Given the description of an element on the screen output the (x, y) to click on. 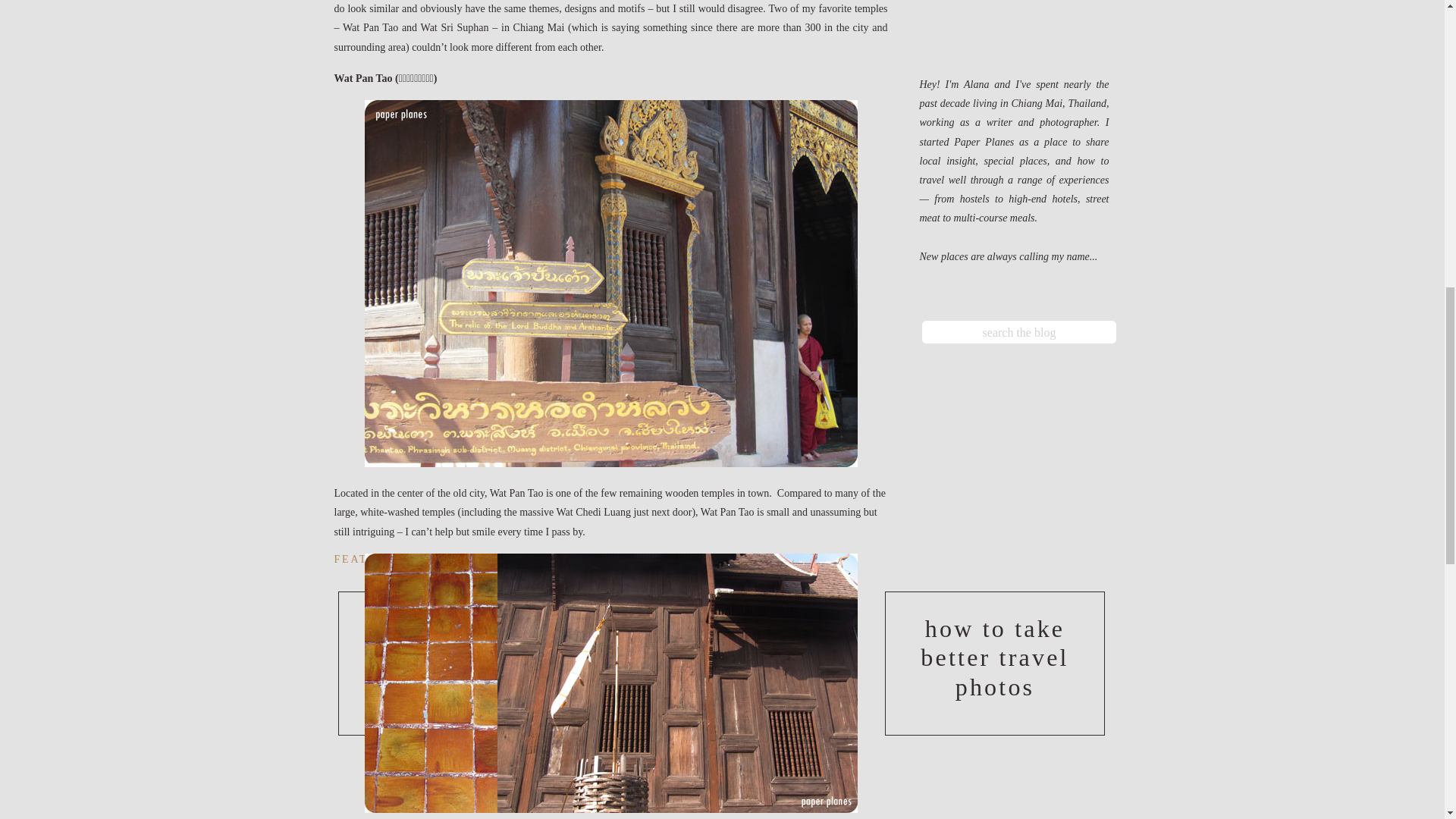
how to take better travel photos (994, 663)
bangkok for beginners (718, 663)
